Given the description of an element on the screen output the (x, y) to click on. 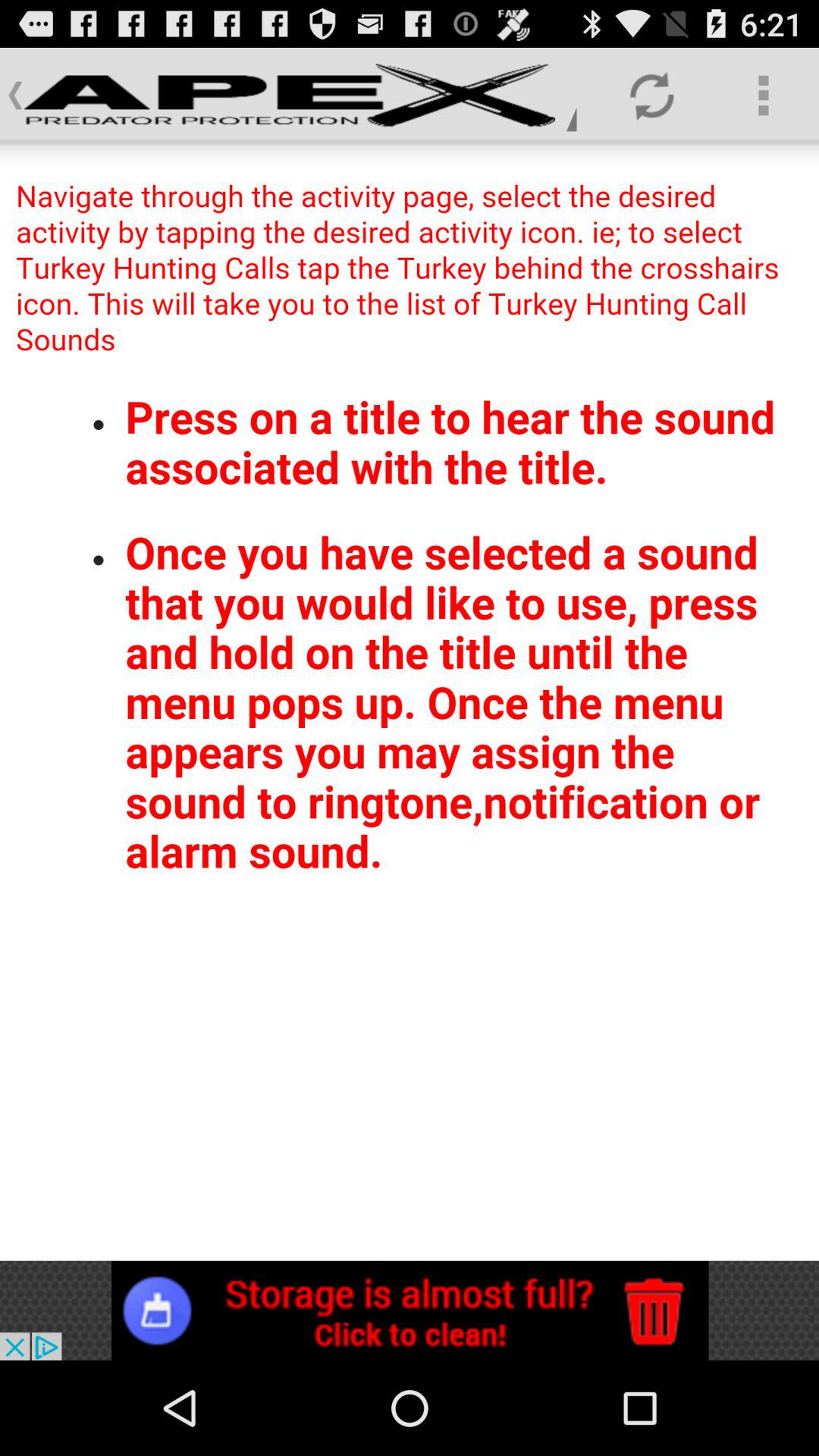
description (409, 701)
